Given the description of an element on the screen output the (x, y) to click on. 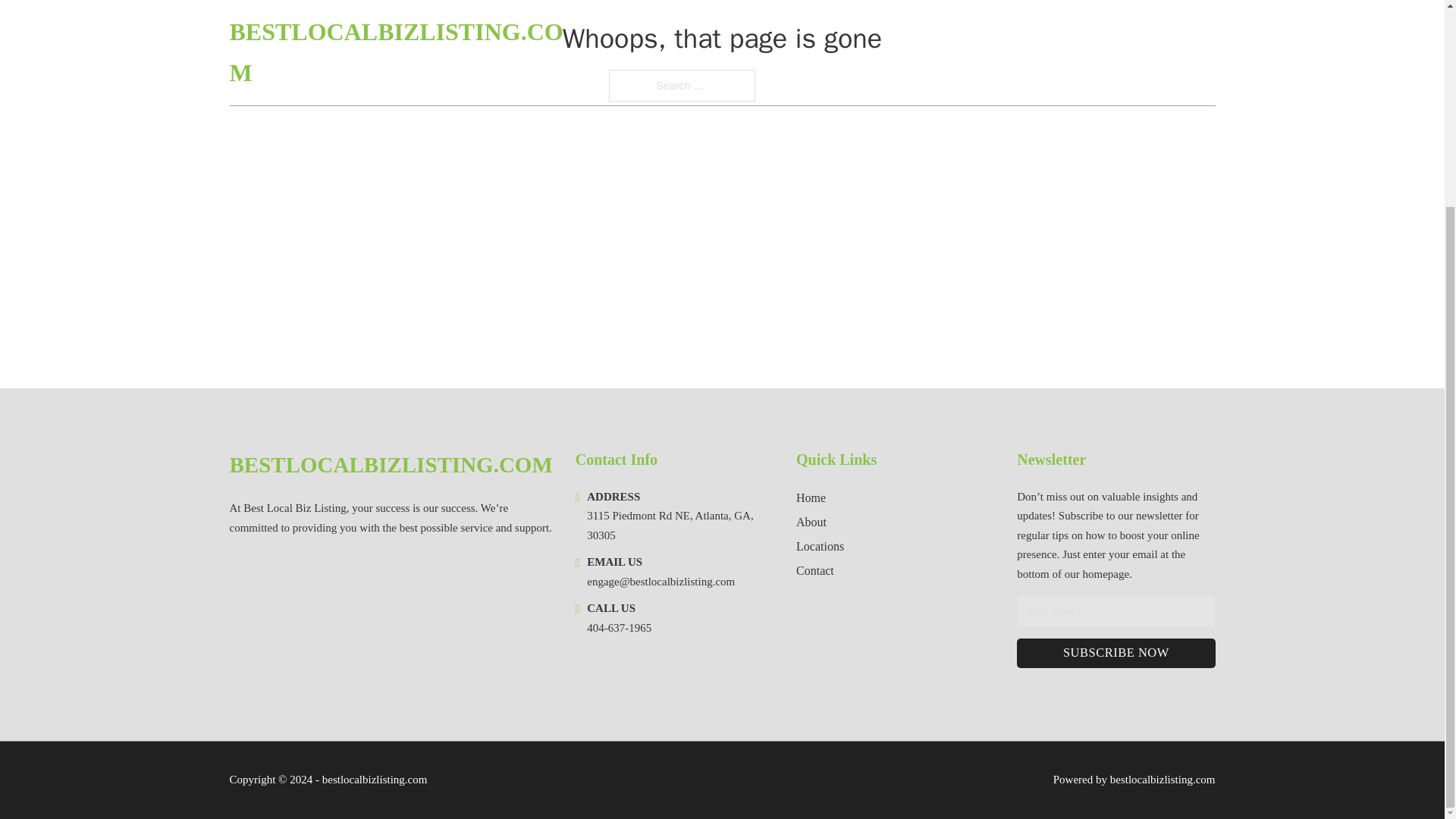
404-637-1965 (618, 627)
Home (810, 497)
Locations (820, 546)
Contact (815, 570)
SUBSCRIBE NOW (1115, 653)
BESTLOCALBIZLISTING.COM (389, 465)
About (811, 521)
